Given the description of an element on the screen output the (x, y) to click on. 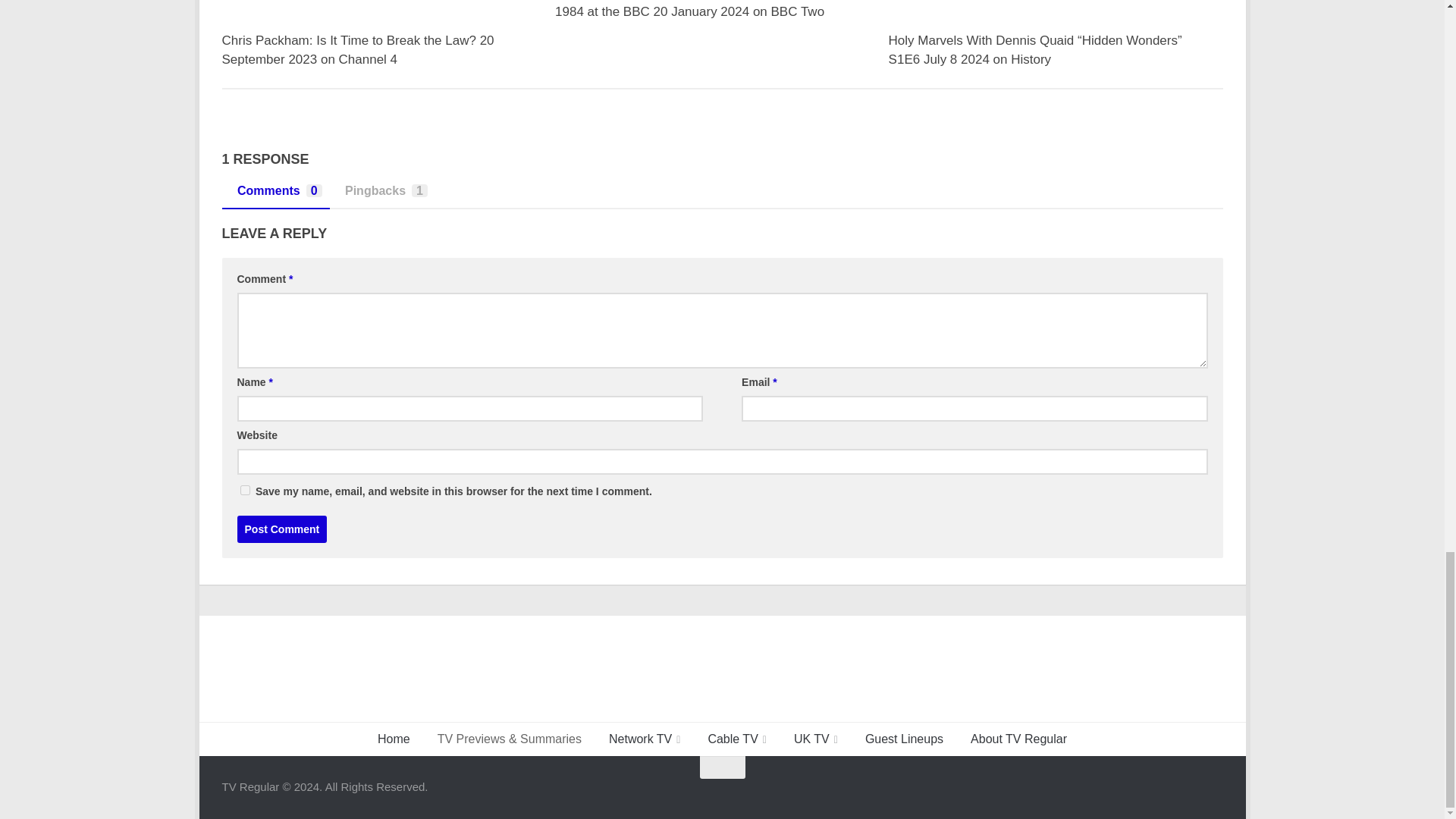
Post Comment (280, 528)
yes (244, 490)
